Given the description of an element on the screen output the (x, y) to click on. 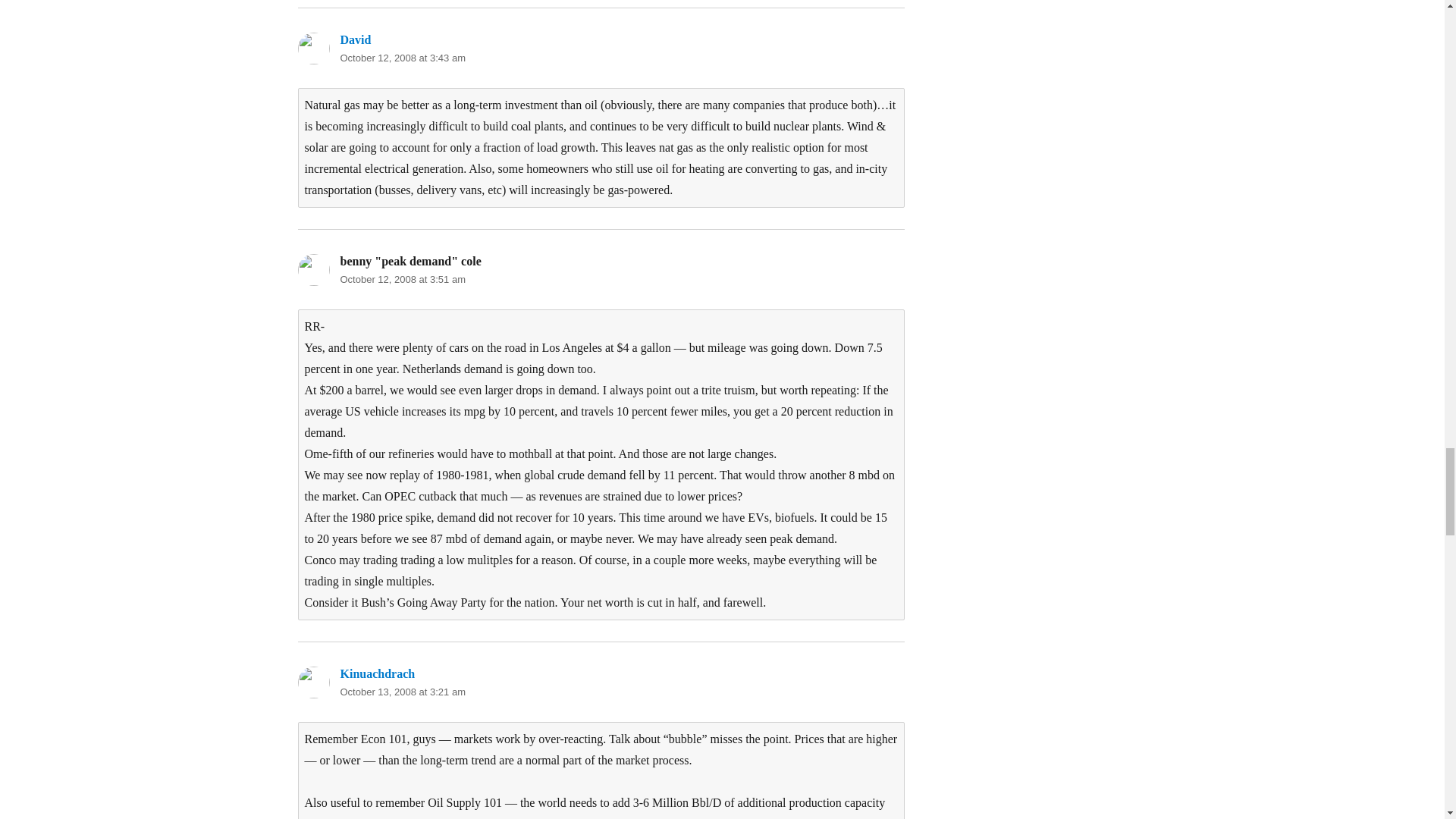
October 13, 2008 at 3:21 am (402, 691)
October 12, 2008 at 3:43 am (402, 57)
David (355, 39)
October 12, 2008 at 3:51 am (402, 279)
Kinuachdrach (376, 673)
